Given the description of an element on the screen output the (x, y) to click on. 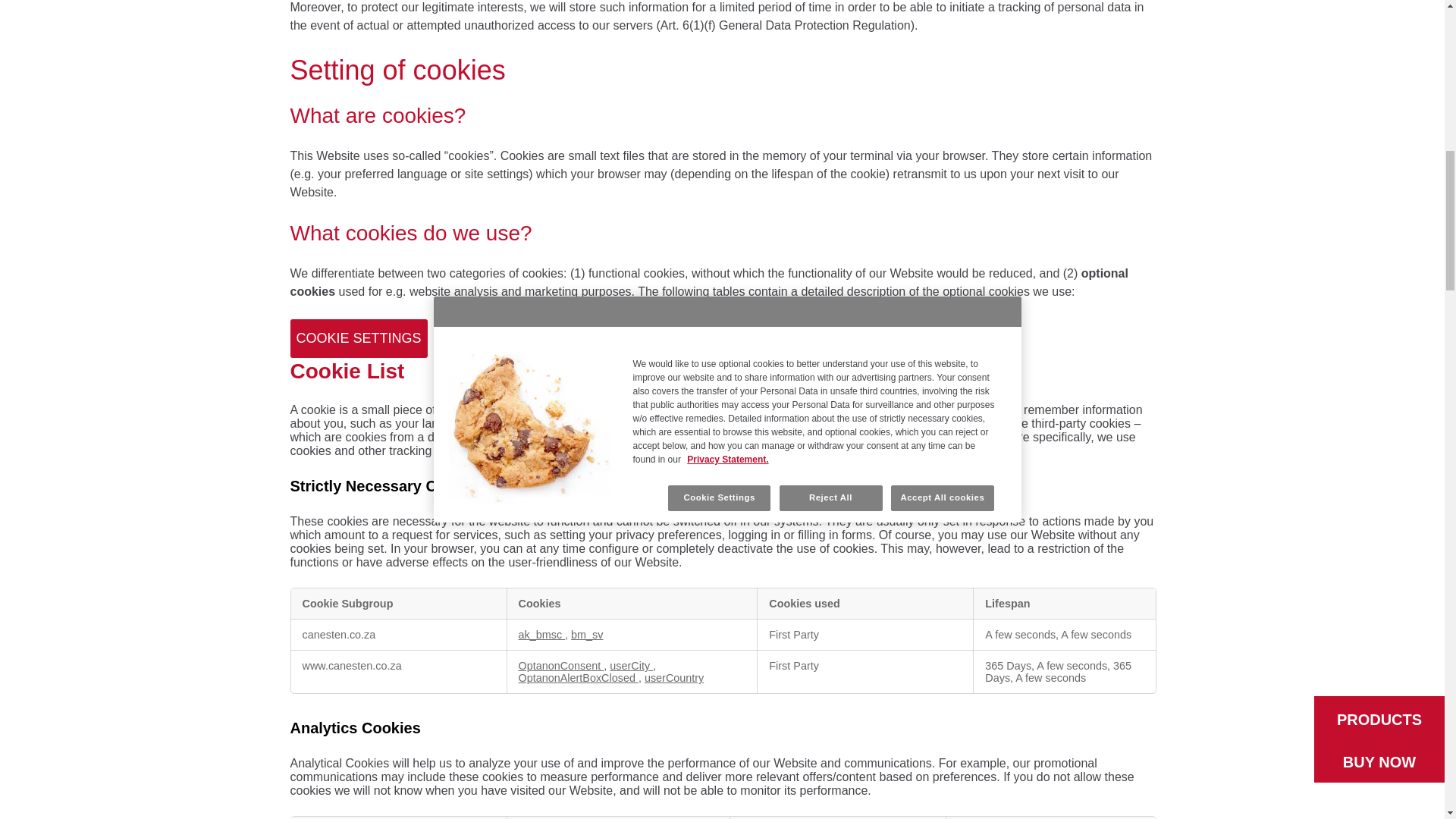
OptanonConsent (561, 665)
COOKIE SETTINGS (357, 338)
userCity (631, 665)
OptanonAlertBoxClosed (578, 677)
userCountry (674, 677)
